Given the description of an element on the screen output the (x, y) to click on. 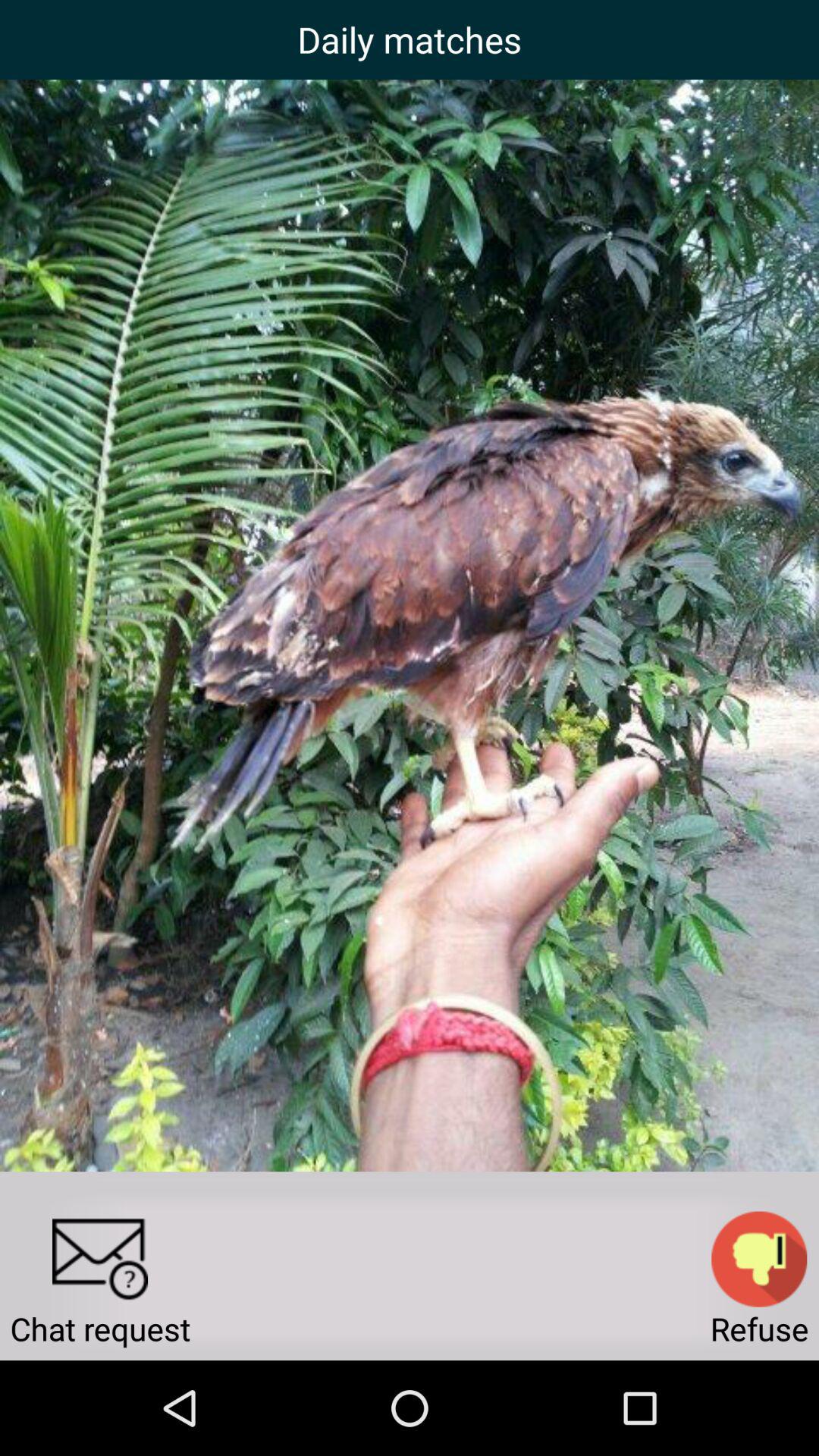
choose the app next to the refuse item (99, 1258)
